Given the description of an element on the screen output the (x, y) to click on. 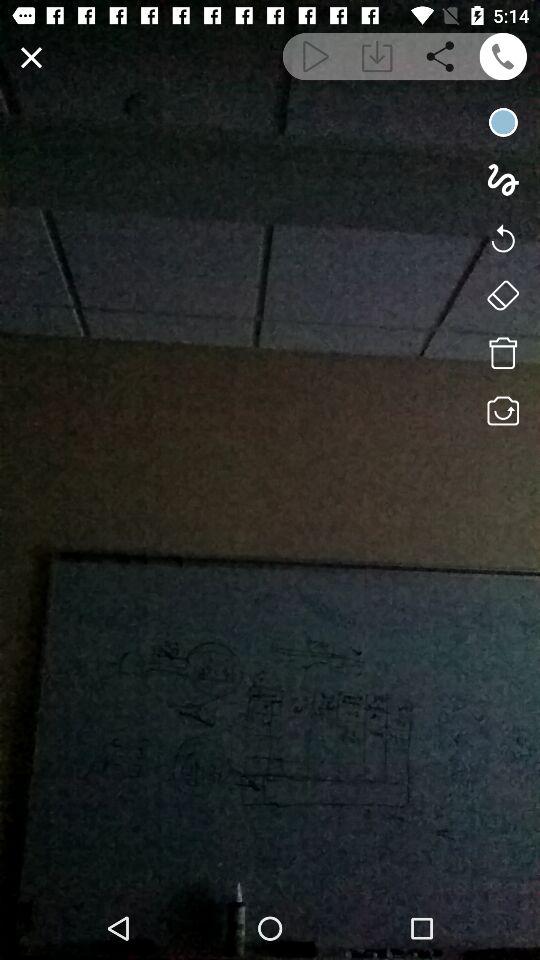
calling options (502, 56)
